Given the description of an element on the screen output the (x, y) to click on. 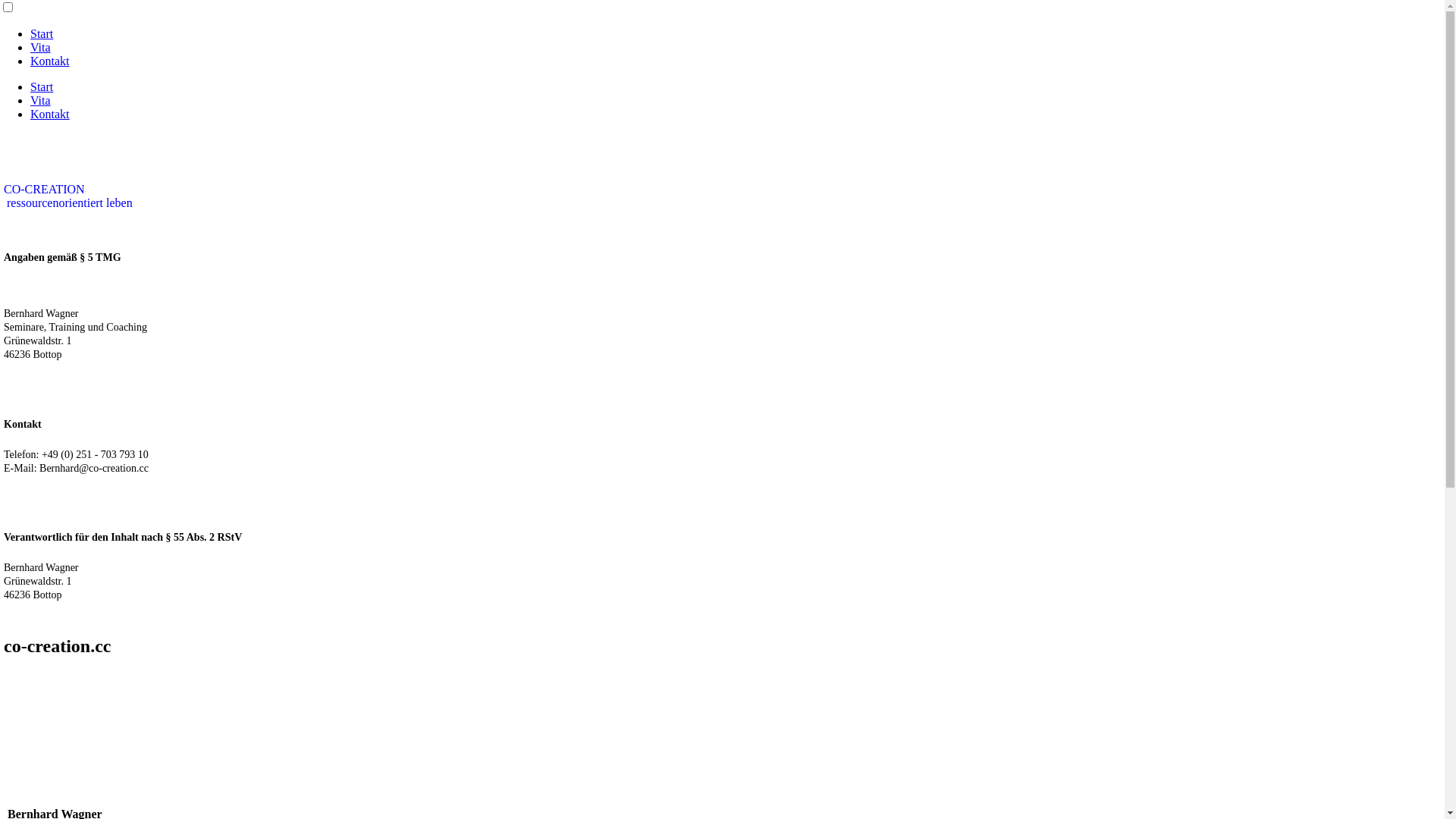
Vita Element type: text (40, 100)
Start Element type: text (41, 33)
CO-CREATION
 ressourcenorientiert leben Element type: text (67, 195)
Vita Element type: text (40, 46)
Kontakt Element type: text (49, 60)
Start Element type: text (41, 86)
Kontakt Element type: text (49, 113)
